Given the description of an element on the screen output the (x, y) to click on. 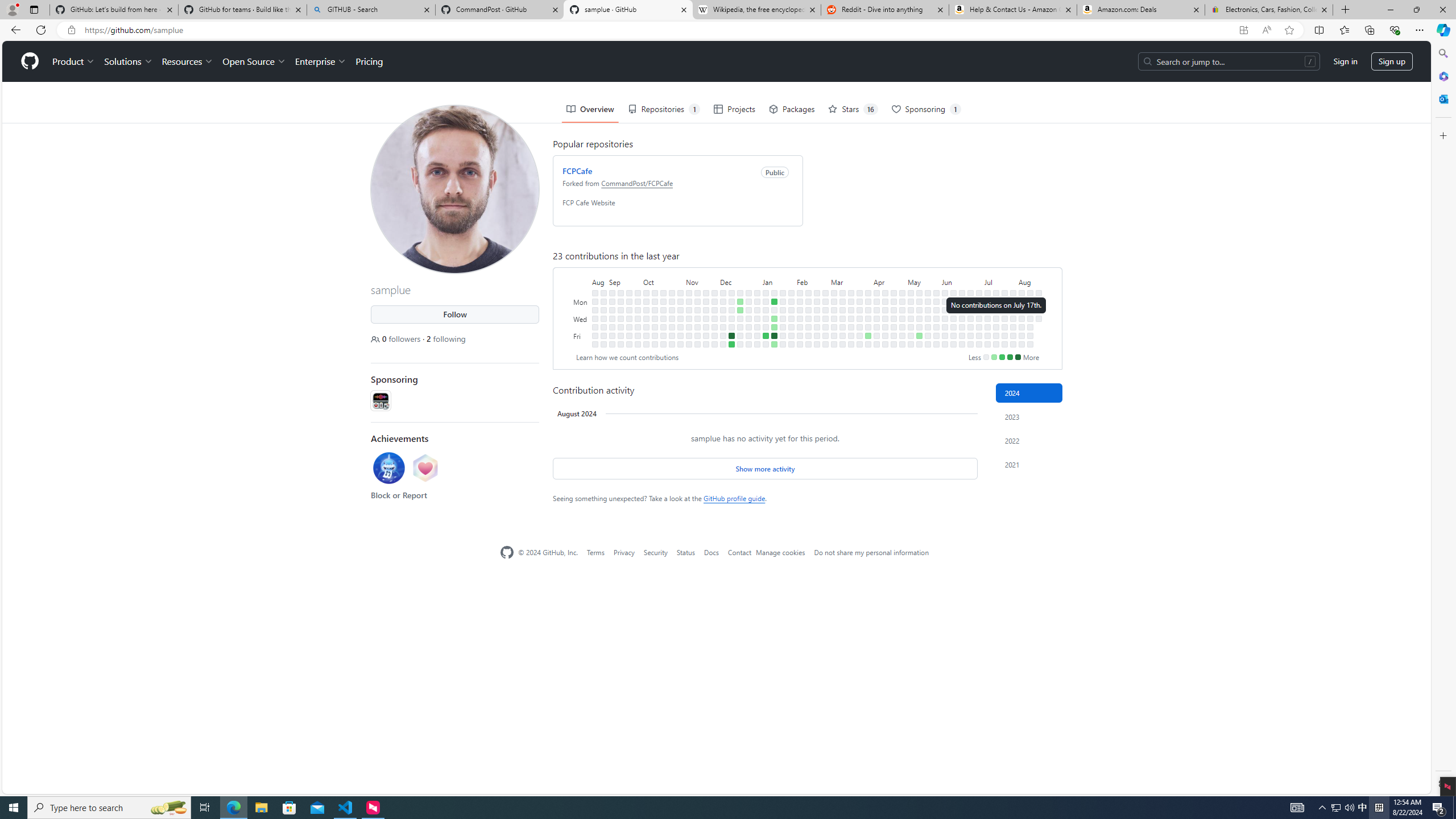
No contributions on September 24th. (637, 292)
No contributions on November 22nd. (706, 318)
No contributions on June 22nd. (962, 343)
1 contribution on May 17th. (919, 335)
GITHUB - Search (370, 9)
No contributions on October 16th. (663, 301)
No contributions on December 23rd. (740, 343)
View samplue's full-sized avatar (454, 188)
No contributions on December 3rd. (723, 292)
Close Outlook pane (1442, 98)
No contributions on August 6th. (1022, 309)
No contributions on June 14th. (953, 335)
No contributions on November 6th. (688, 301)
No contributions on July 19th. (995, 335)
No contributions on February 2nd. (790, 335)
